Given the description of an element on the screen output the (x, y) to click on. 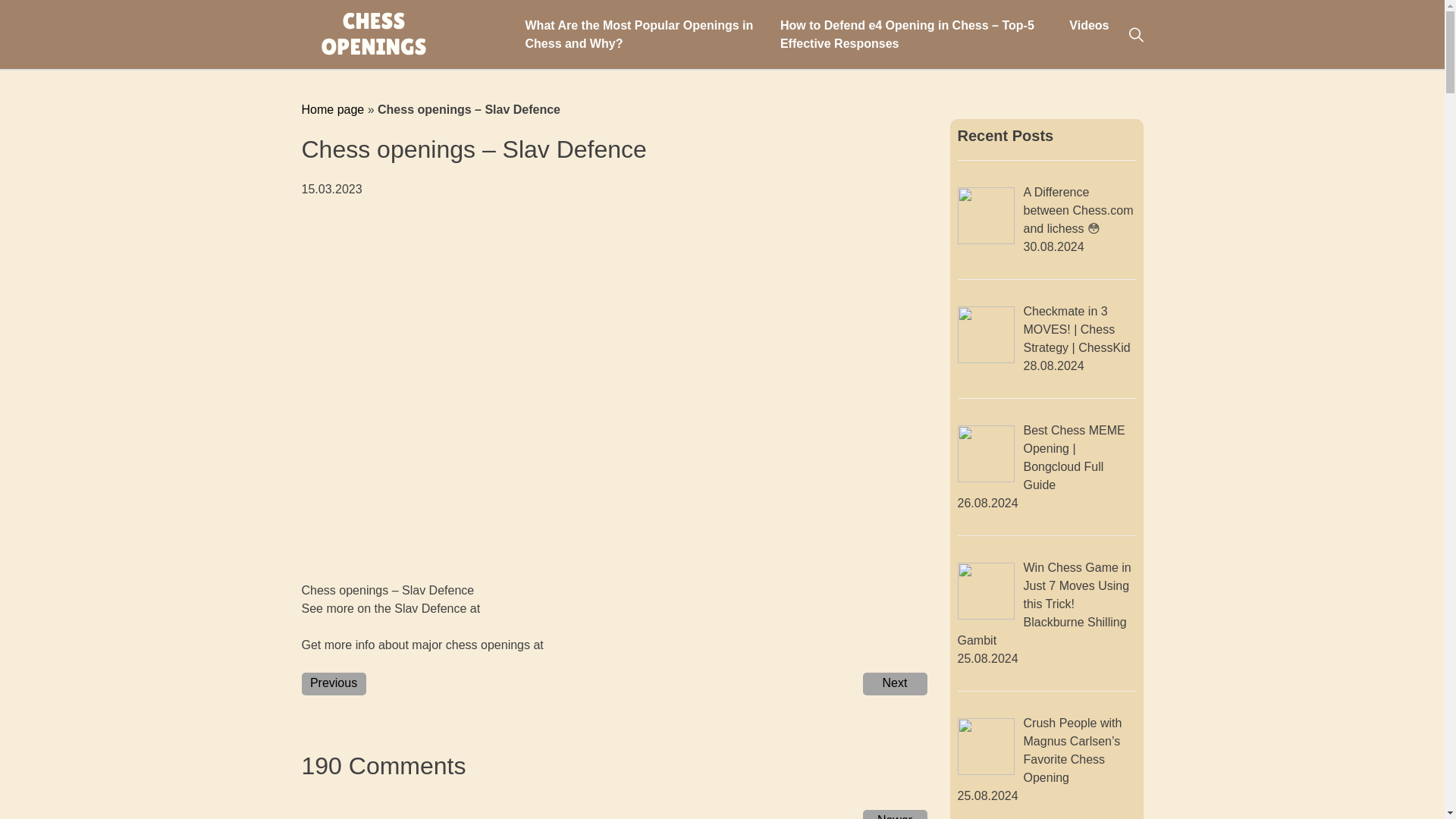
Videos (1088, 24)
Newer comments (895, 814)
Previous (333, 683)
Next (895, 683)
Home page (333, 109)
What Are the Most Popular Openings in Chess and Why? (638, 33)
